Given the description of an element on the screen output the (x, y) to click on. 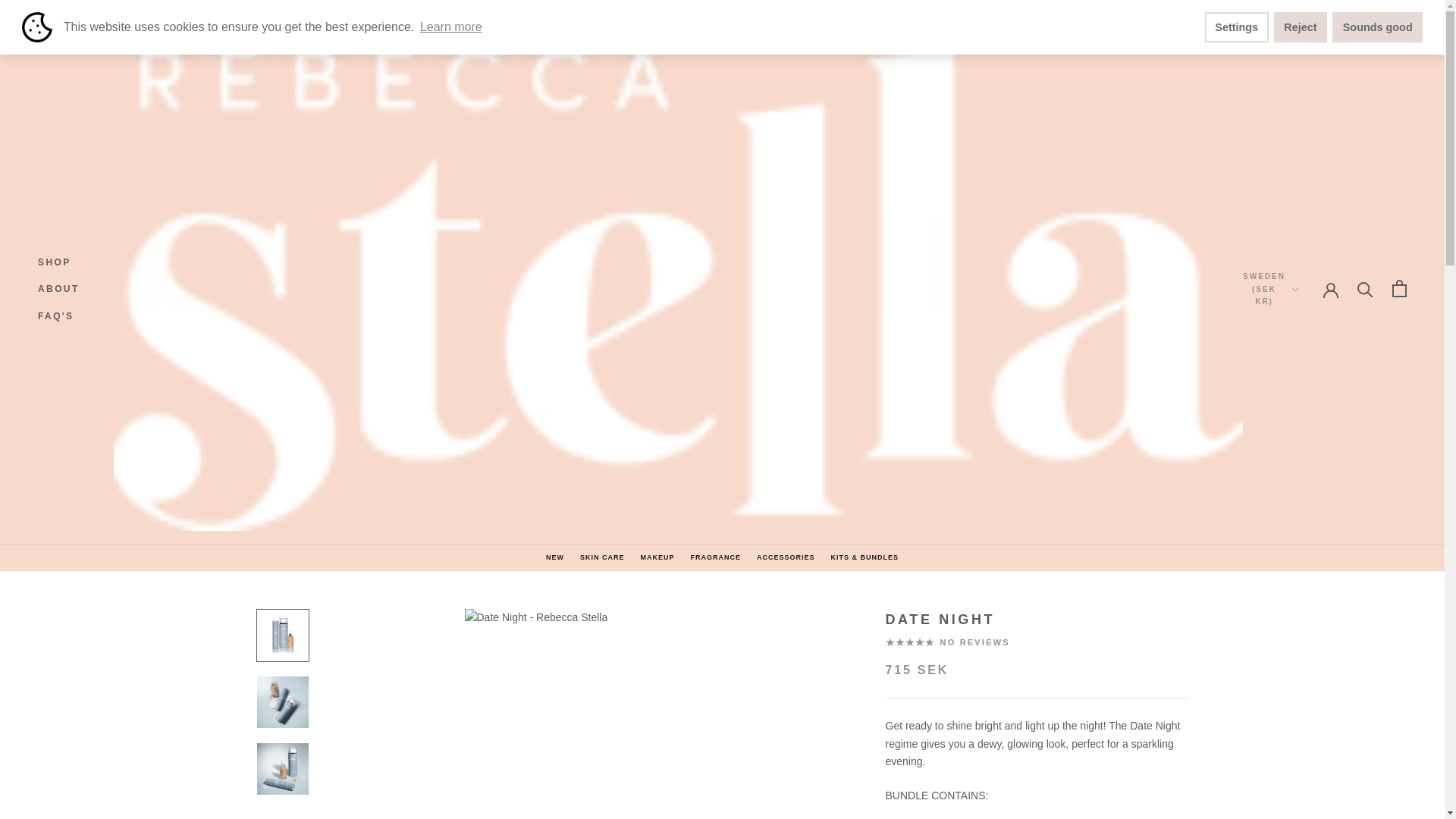
FI (55, 316)
Sounds good (54, 262)
Reject (1324, 373)
AT (1377, 27)
DK (1300, 27)
Settings (1324, 333)
Learn more (1324, 353)
